Given the description of an element on the screen output the (x, y) to click on. 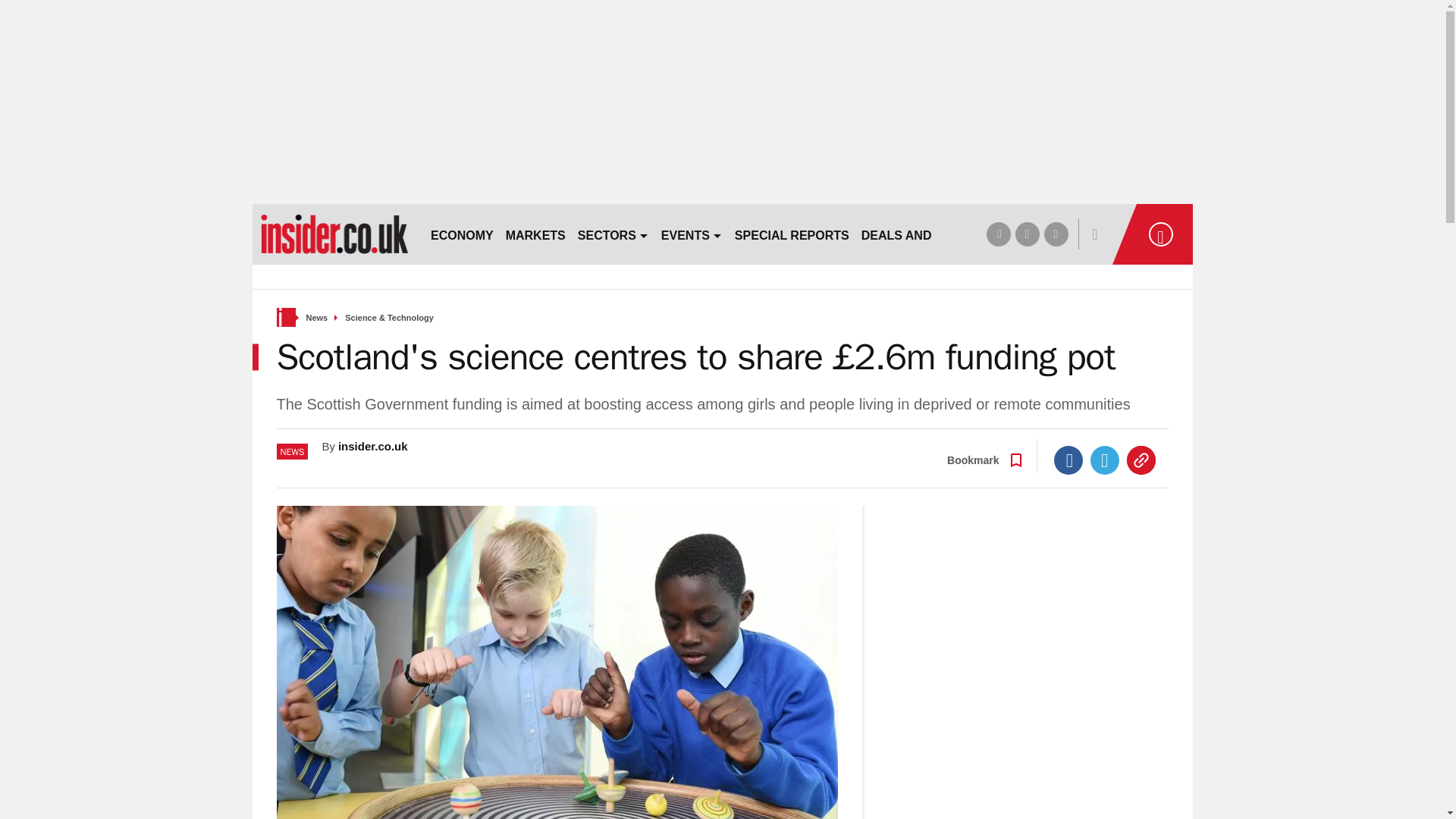
MARKETS (535, 233)
DEALS AND DEALMAKERS (941, 233)
ECONOMY (462, 233)
SPECIAL REPORTS (792, 233)
twitter (1026, 233)
facebook (997, 233)
businessInsider (333, 233)
Twitter (1104, 460)
EVENTS (692, 233)
SECTORS (613, 233)
Facebook (1068, 460)
linkedin (1055, 233)
